Given the description of an element on the screen output the (x, y) to click on. 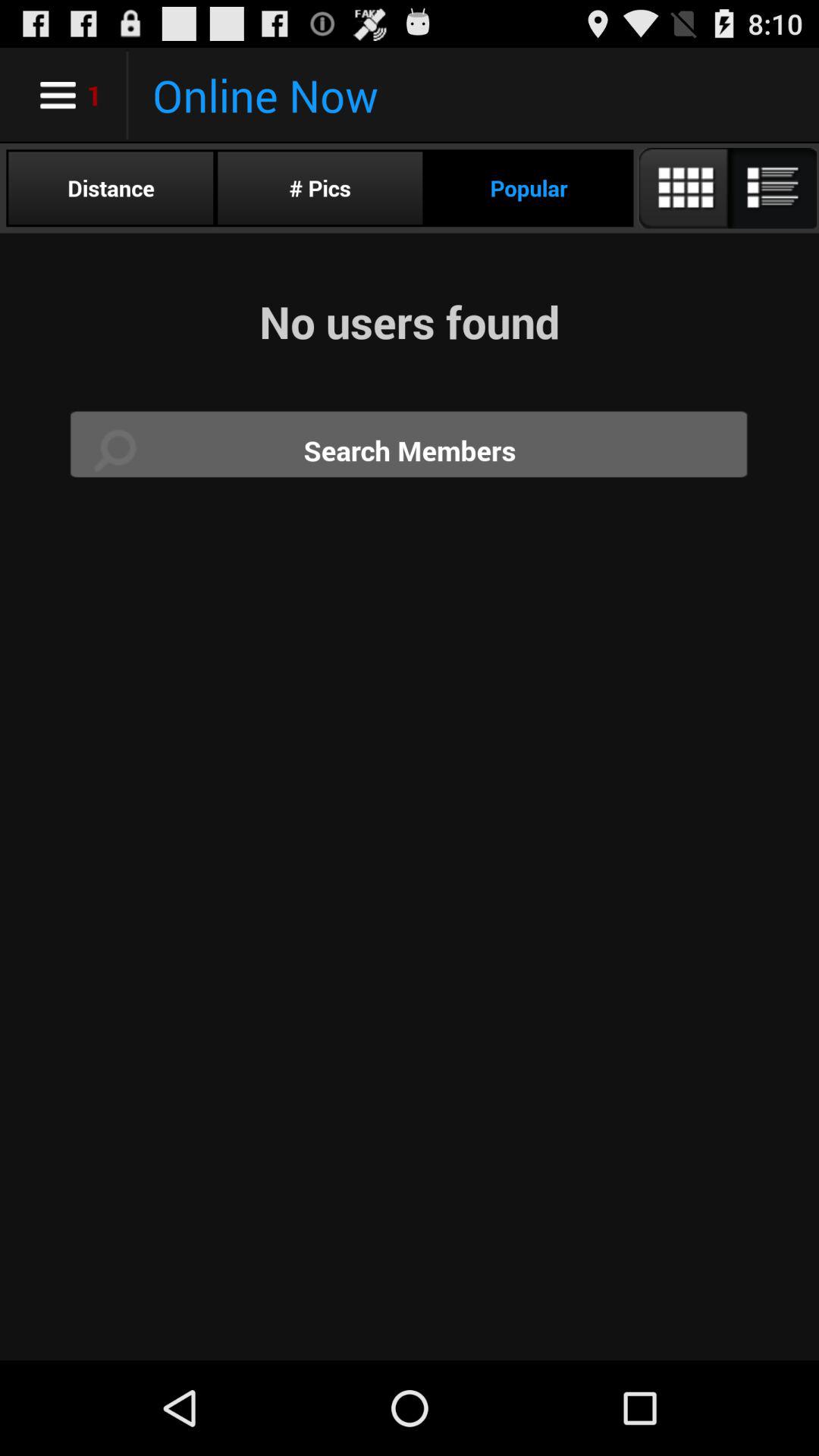
open the item next to the # pics (110, 187)
